Given the description of an element on the screen output the (x, y) to click on. 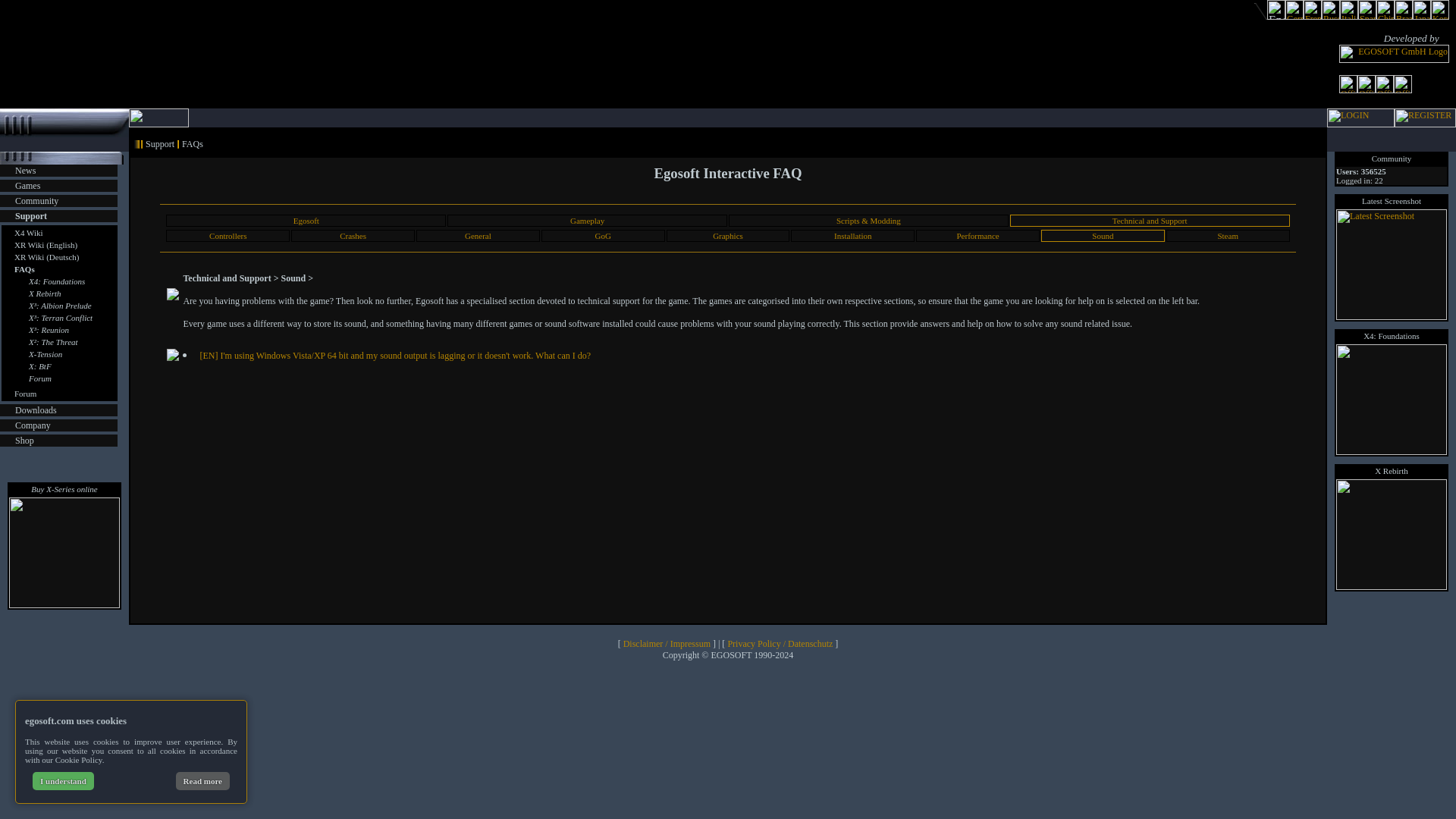
Downloads (35, 409)
FAQs (24, 268)
Spanish (1366, 16)
Support (30, 215)
Egosoft (306, 220)
Games (27, 185)
Italian (1348, 16)
Community (36, 200)
Korean (1439, 16)
Shop (23, 439)
Brazilian (1403, 16)
French (1312, 16)
X-Tension (45, 353)
X4: Foundations (56, 280)
Company (32, 425)
